Given the description of an element on the screen output the (x, y) to click on. 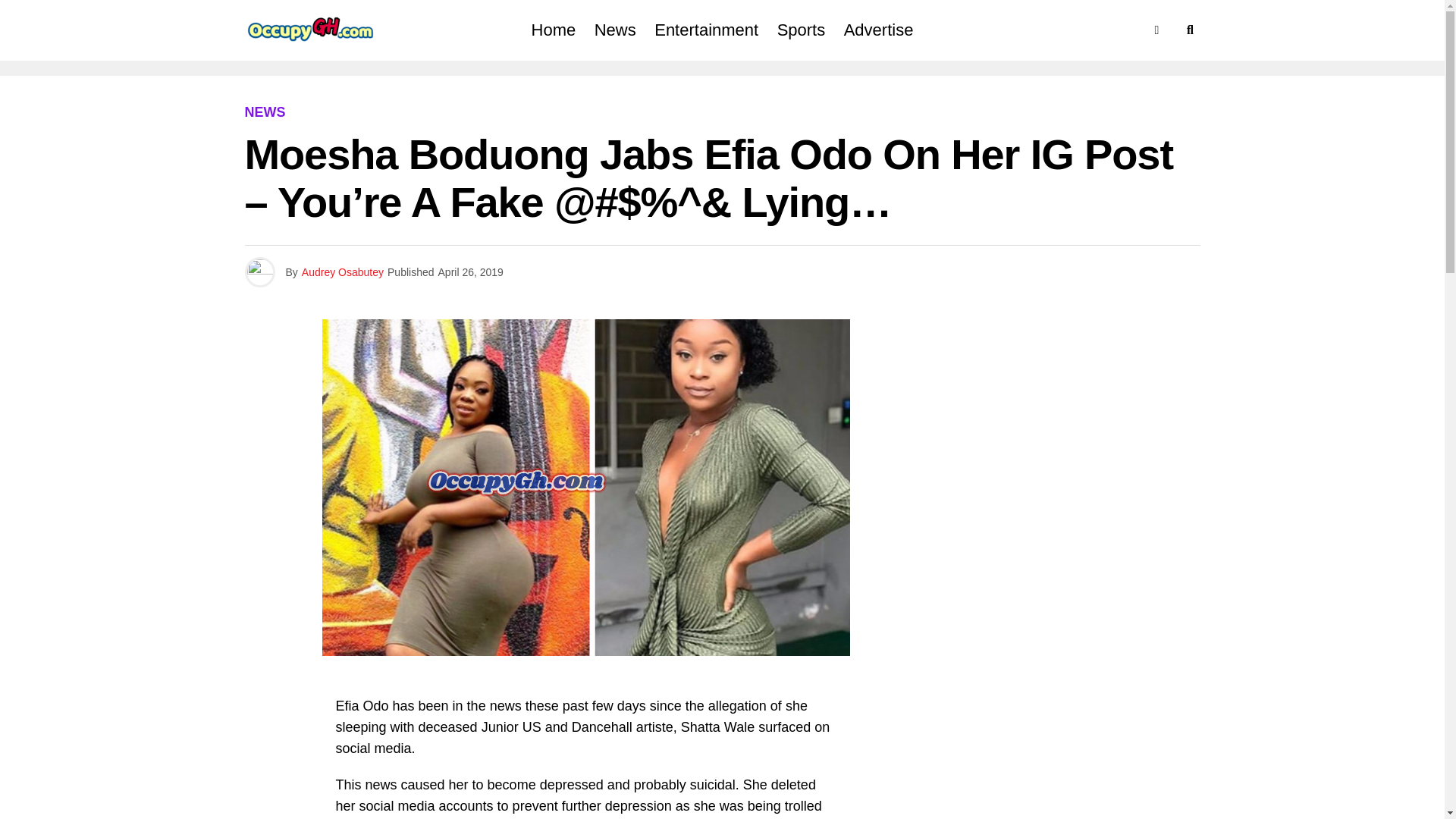
Sports (801, 30)
Entertainment (705, 30)
NEWS (264, 112)
Advertise (878, 30)
News (614, 30)
Audrey Osabutey (342, 272)
Home (553, 30)
Posts by Audrey Osabutey (342, 272)
